Given the description of an element on the screen output the (x, y) to click on. 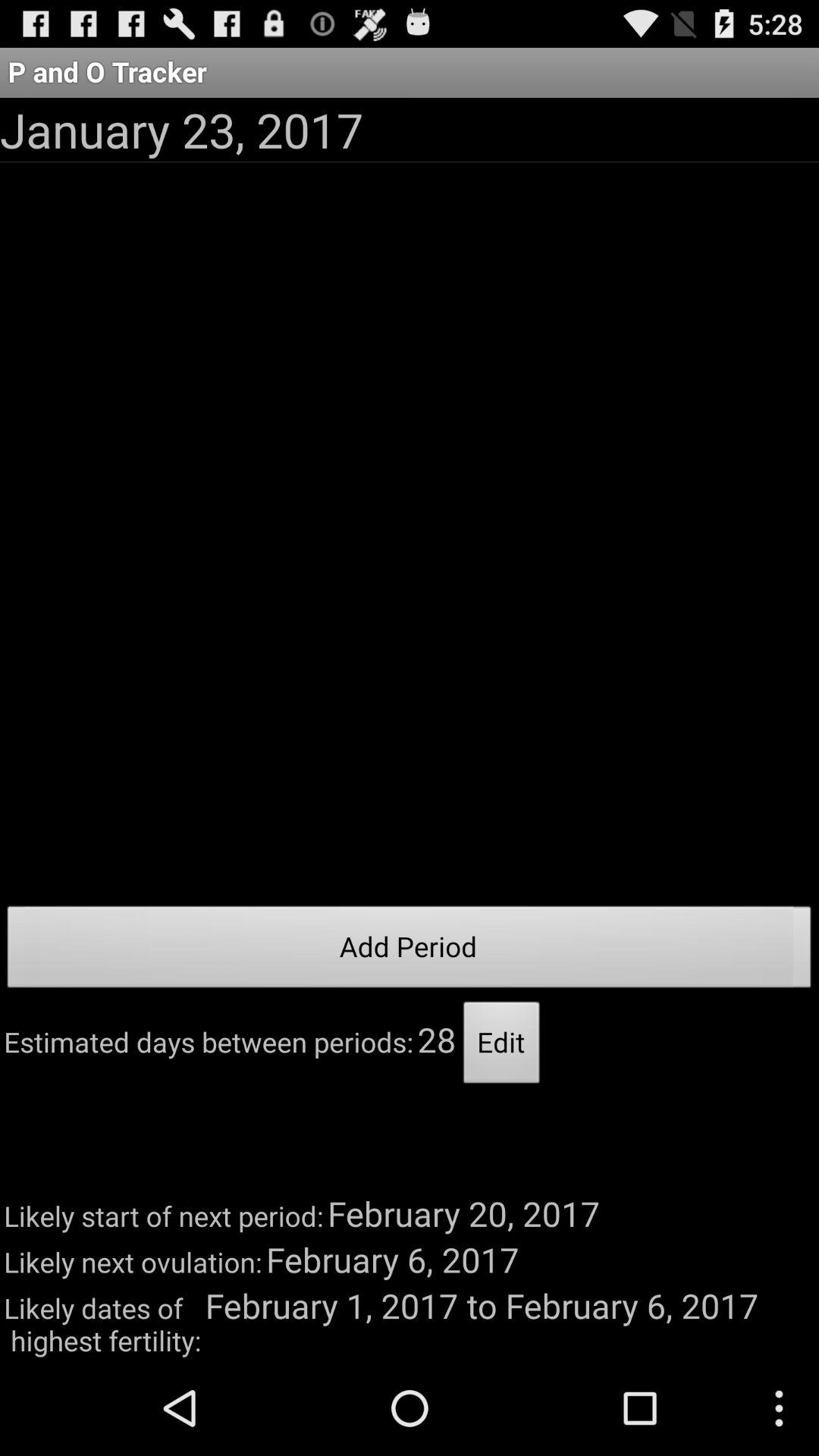
tap the icon above the february 20, 2017 (501, 1046)
